Given the description of an element on the screen output the (x, y) to click on. 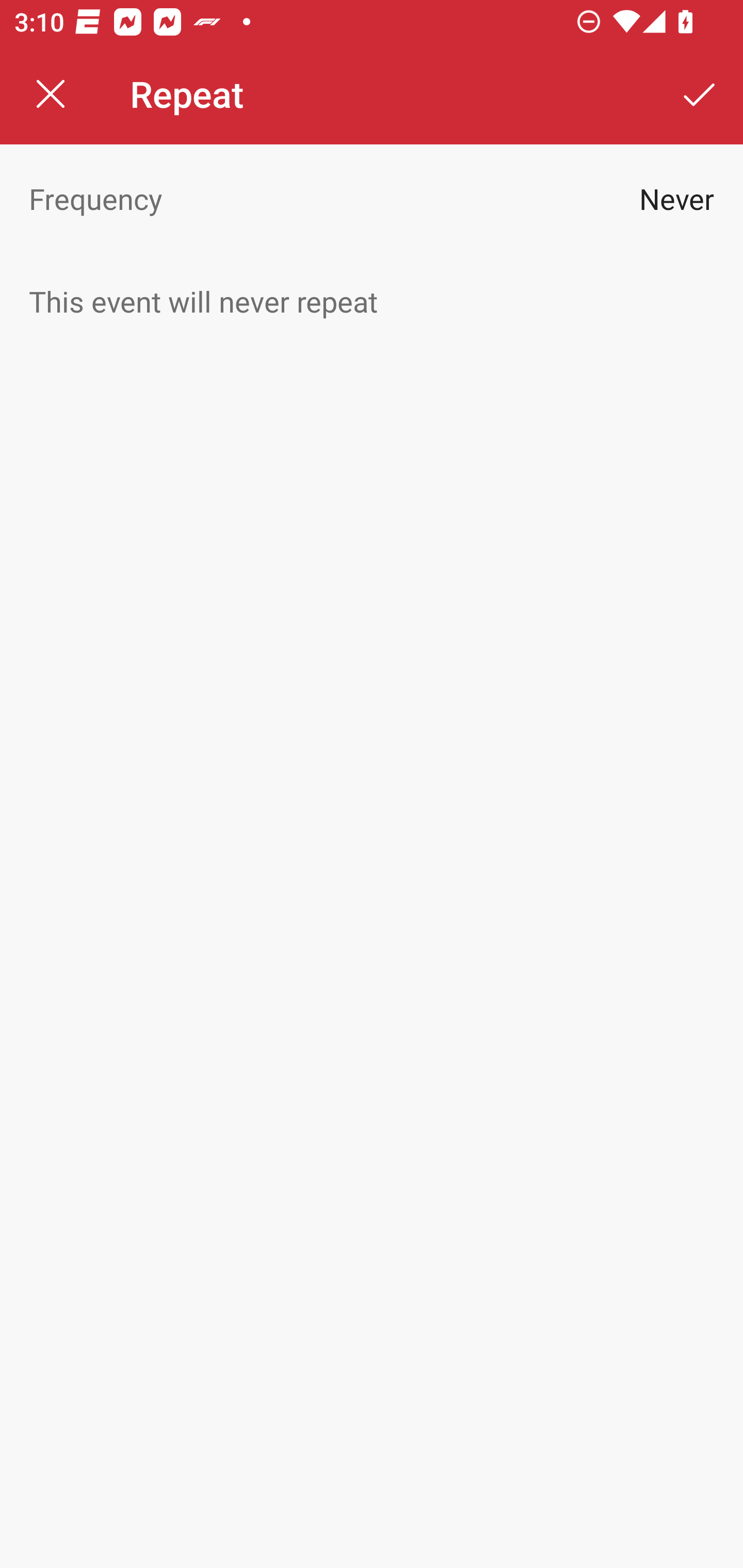
Close (50, 93)
Save (699, 93)
Frequency Never (371, 198)
